Given the description of an element on the screen output the (x, y) to click on. 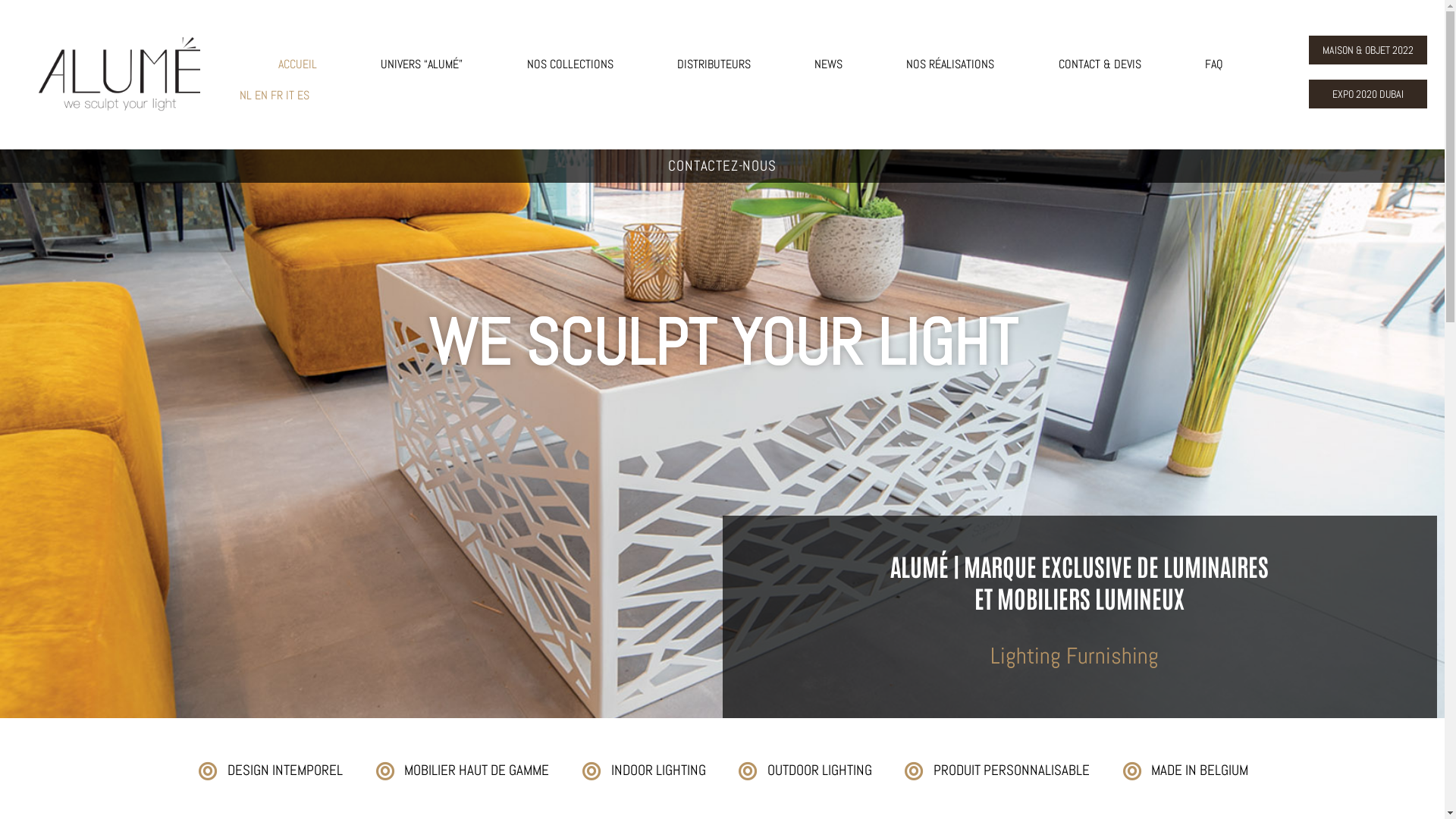
MAISON & OBJET 2022 Element type: text (1367, 49)
NL Element type: text (245, 95)
EN Element type: text (260, 95)
ACCUEIL Element type: text (297, 64)
FR Element type: text (276, 95)
IT Element type: text (289, 95)
CONTACT & DEVIS Element type: text (1099, 64)
ES Element type: text (303, 95)
NEWS Element type: text (828, 64)
EXPO 2020 DUBAI Element type: text (1367, 93)
NOS COLLECTIONS Element type: text (569, 64)
CONTACTEZ-NOUS Element type: text (721, 166)
FAQ Element type: text (1214, 64)
DISTRIBUTEURS Element type: text (713, 64)
